Given the description of an element on the screen output the (x, y) to click on. 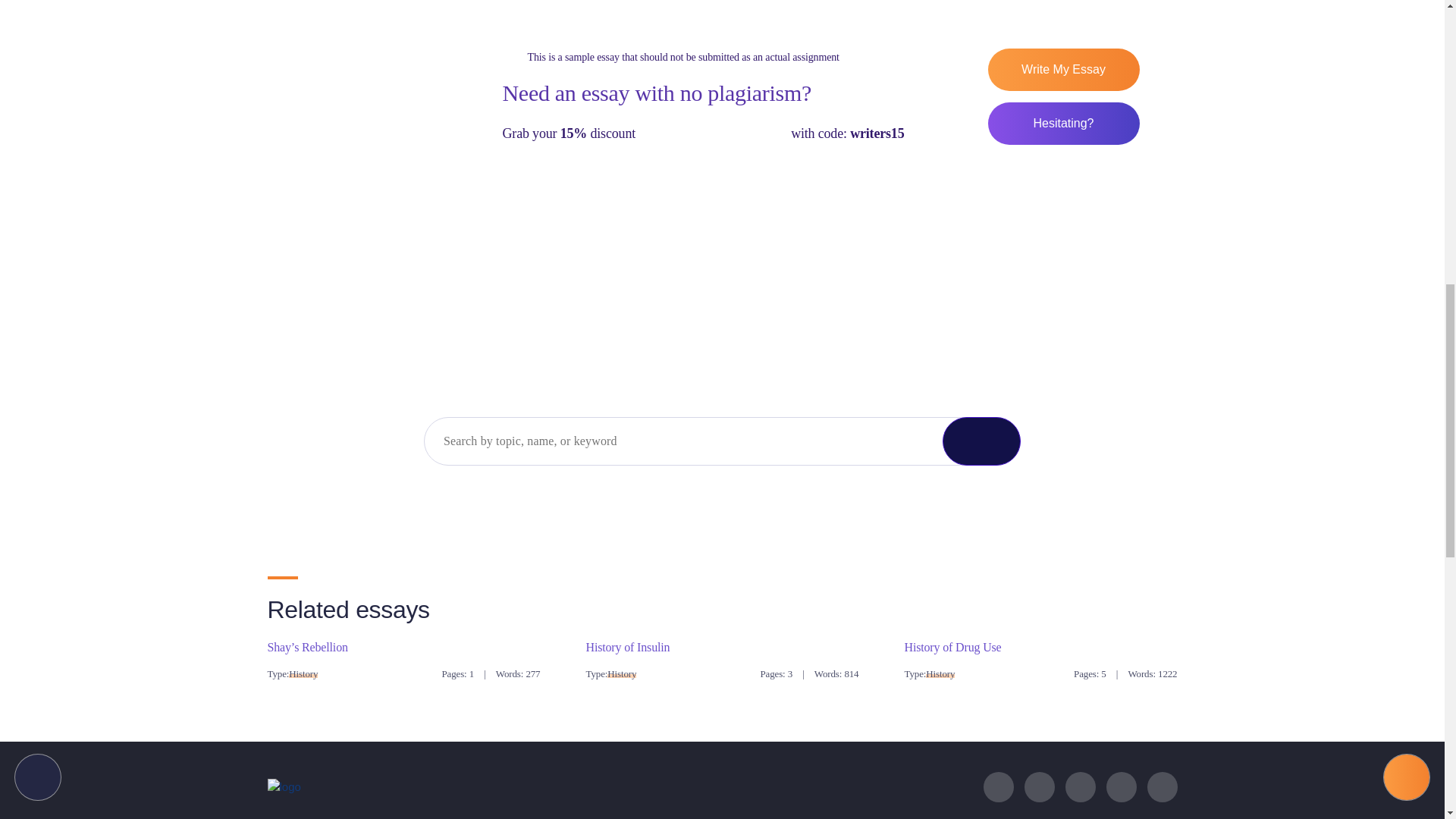
Read more (306, 645)
Read more (627, 645)
Read more (952, 645)
